Given the description of an element on the screen output the (x, y) to click on. 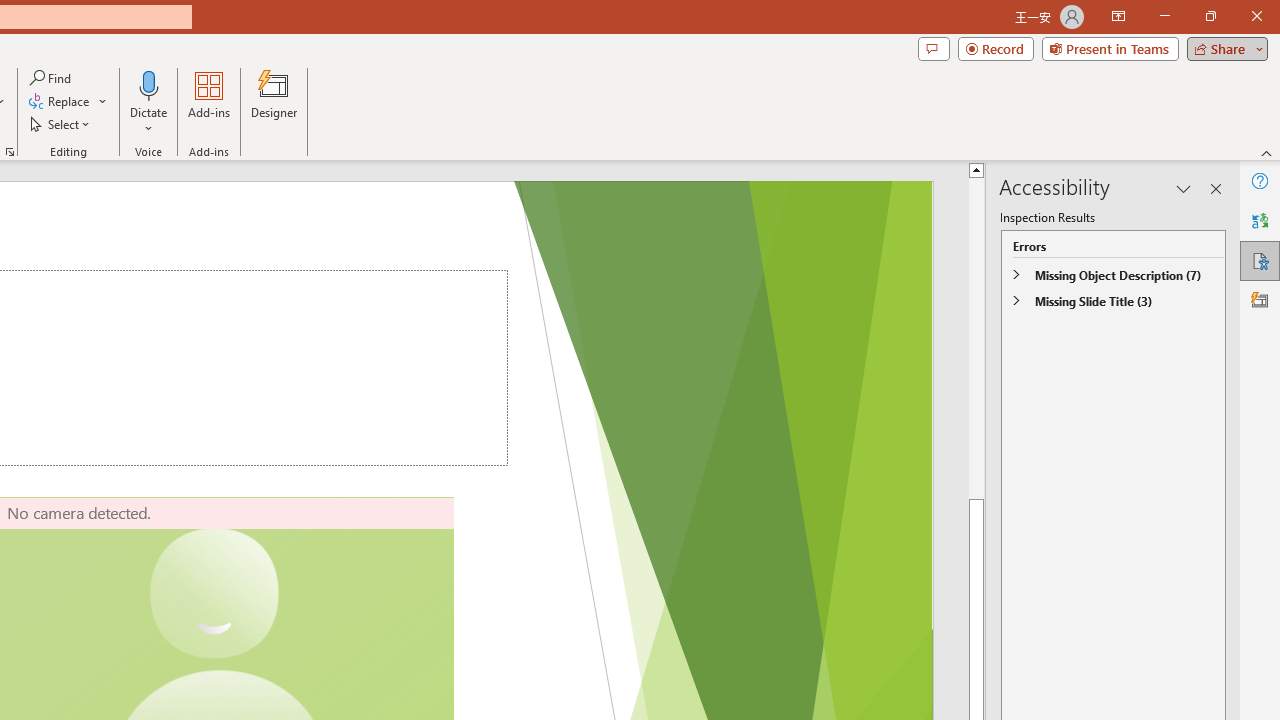
Page up (976, 337)
Find... (51, 78)
Translator (1260, 220)
